Given the description of an element on the screen output the (x, y) to click on. 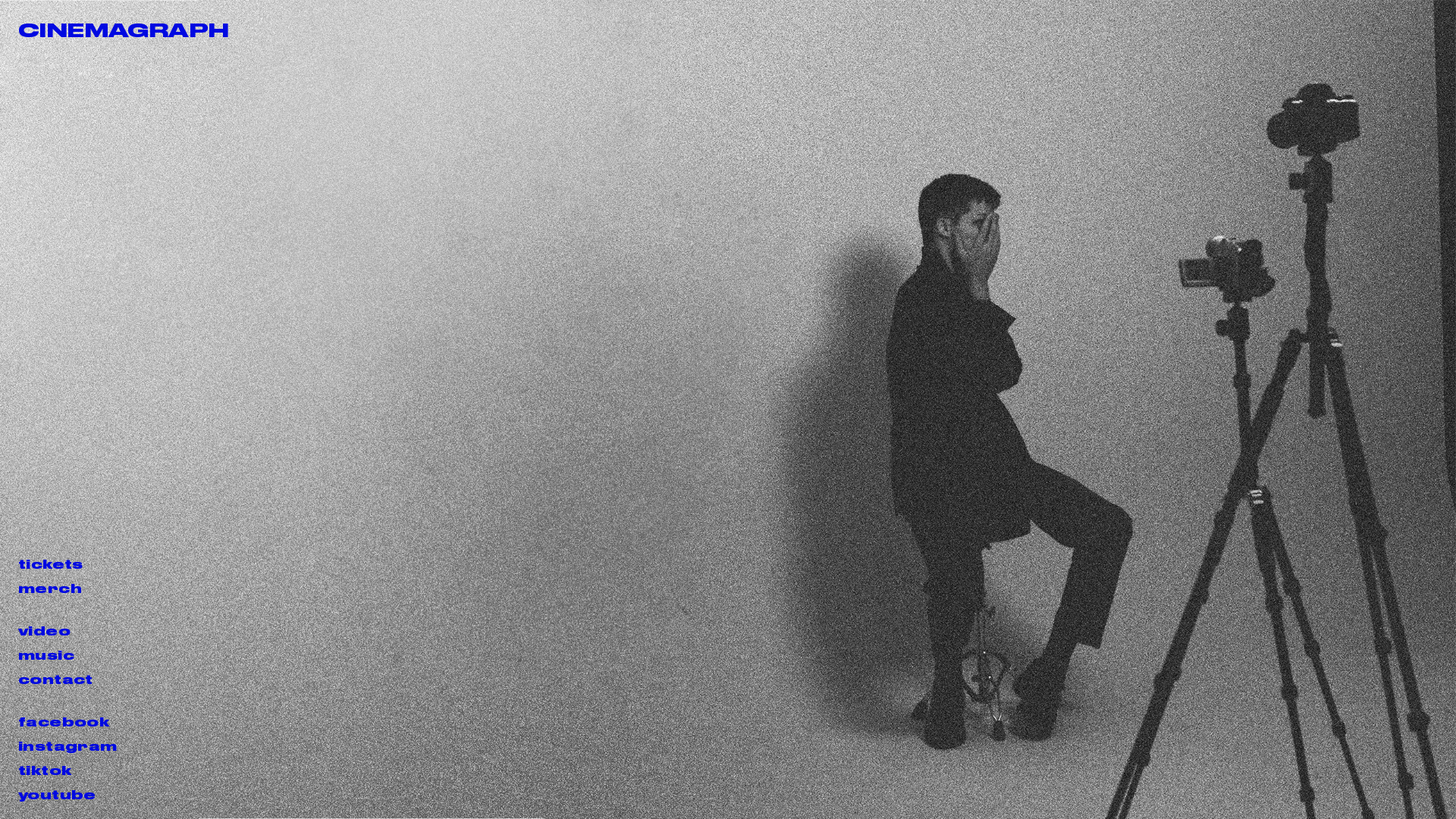
video Element type: text (67, 630)
contact Element type: text (67, 679)
tiktok Element type: text (67, 770)
youtube Element type: text (67, 794)
facebook Element type: text (67, 721)
merch Element type: text (67, 588)
tickets Element type: text (67, 564)
CINEMAGRAPH Element type: text (123, 30)
music Element type: text (67, 655)
instagram Element type: text (67, 746)
